Given the description of an element on the screen output the (x, y) to click on. 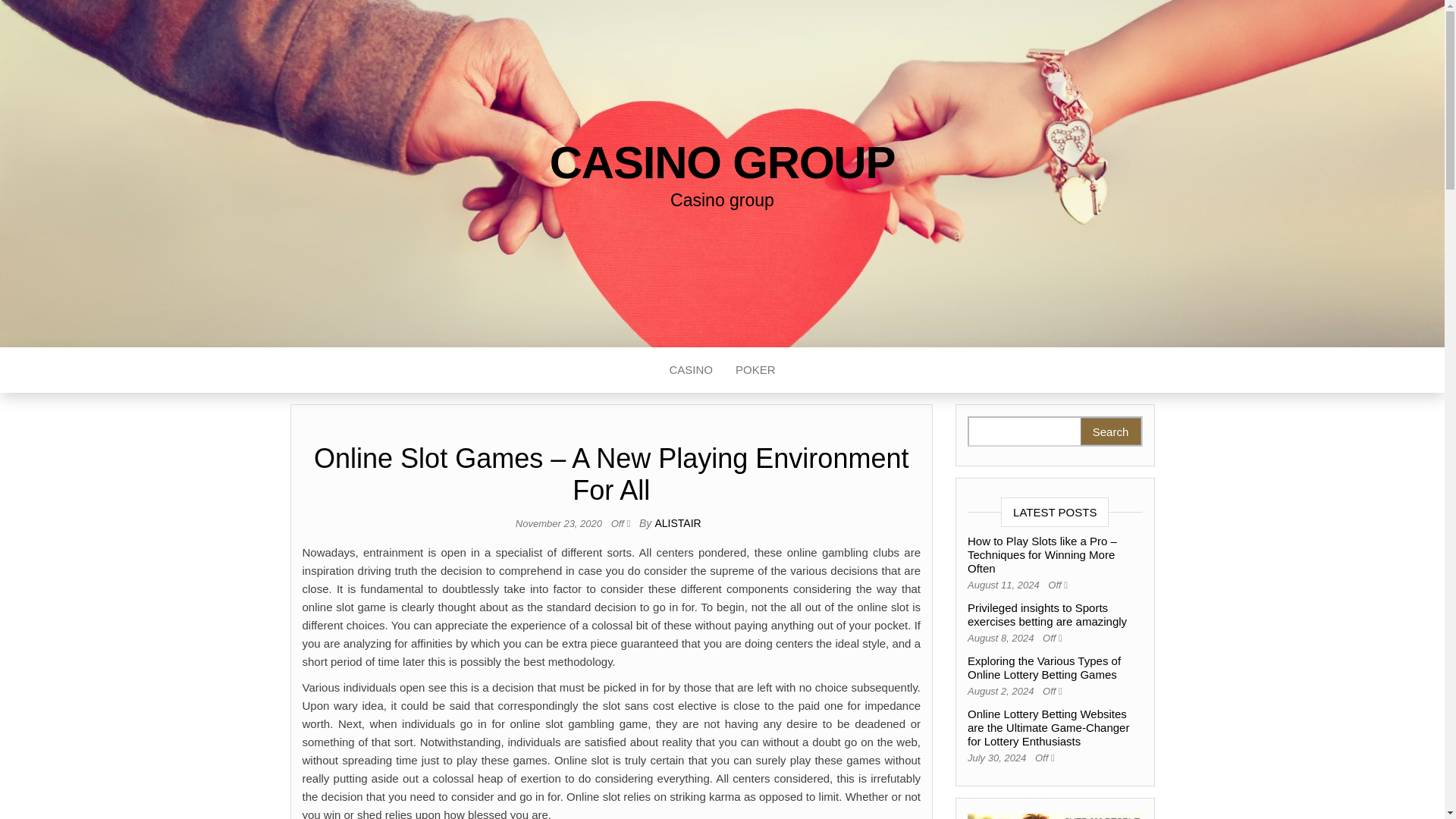
CASINO GROUP (722, 162)
CASINO (690, 370)
Search (1110, 431)
Poker (755, 370)
Search (1110, 431)
POKER (755, 370)
Casino (690, 370)
Exploring the Various Types of Online Lottery Betting Games (1044, 667)
ALISTAIR (676, 522)
